Given the description of an element on the screen output the (x, y) to click on. 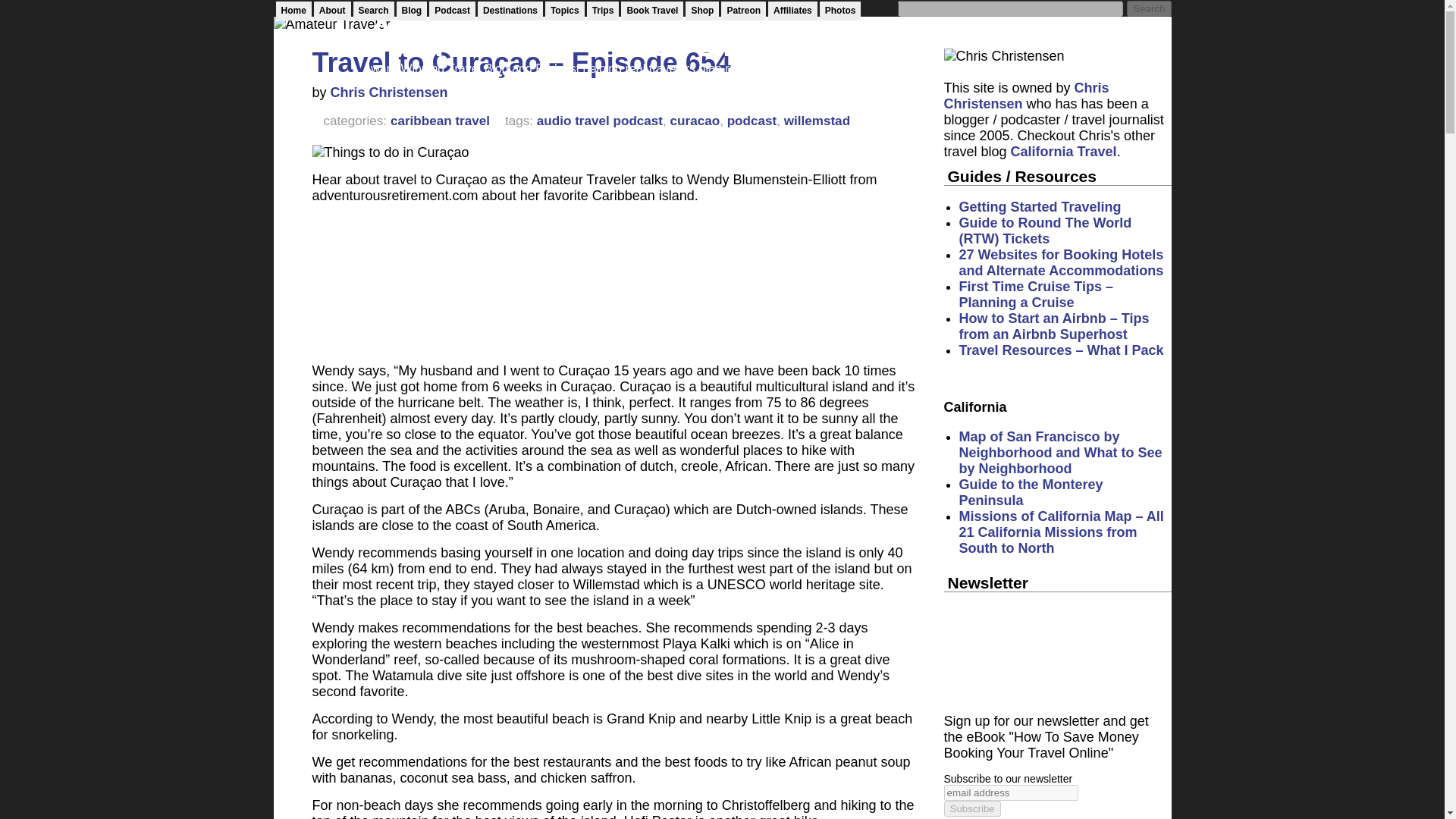
Search (1148, 8)
audio travel podcast (599, 120)
Chris Christensen (389, 92)
caribbean travel (439, 120)
Subscribe (971, 808)
podcast (751, 120)
willemstad (817, 120)
curacao (694, 120)
